Given the description of an element on the screen output the (x, y) to click on. 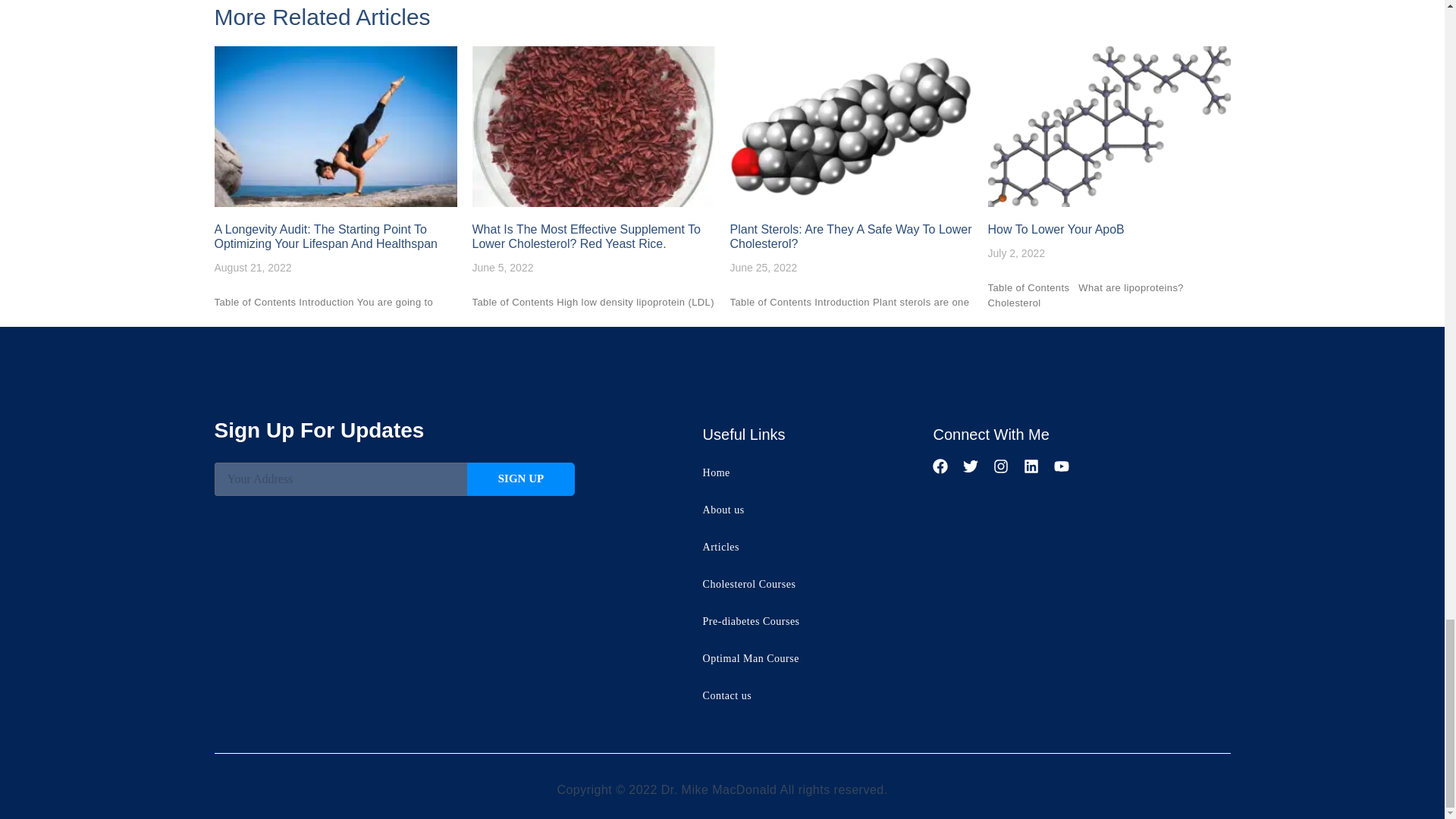
SIGN UP (521, 479)
